Given the description of an element on the screen output the (x, y) to click on. 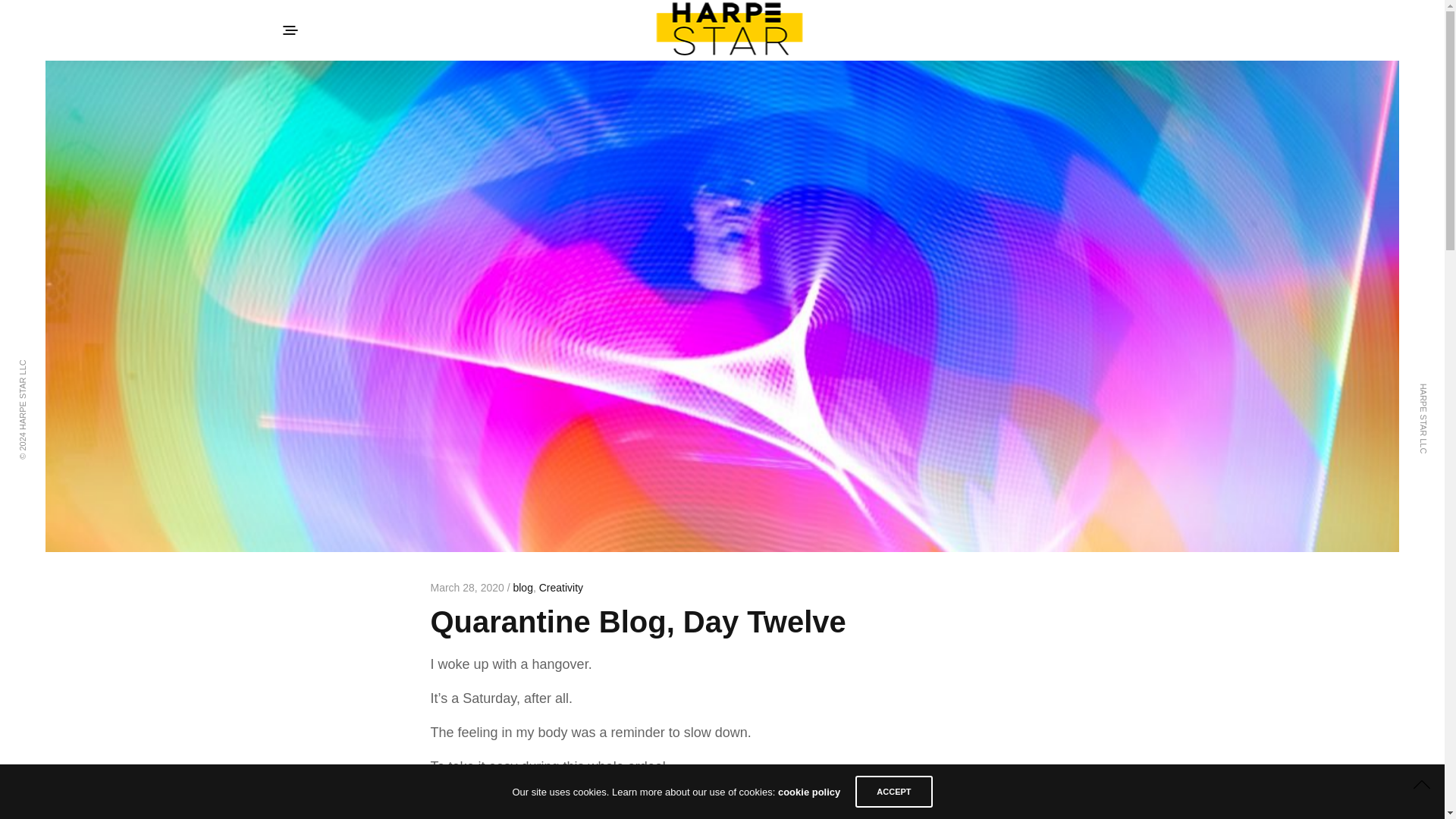
blog (522, 587)
Creativity (560, 587)
